Given the description of an element on the screen output the (x, y) to click on. 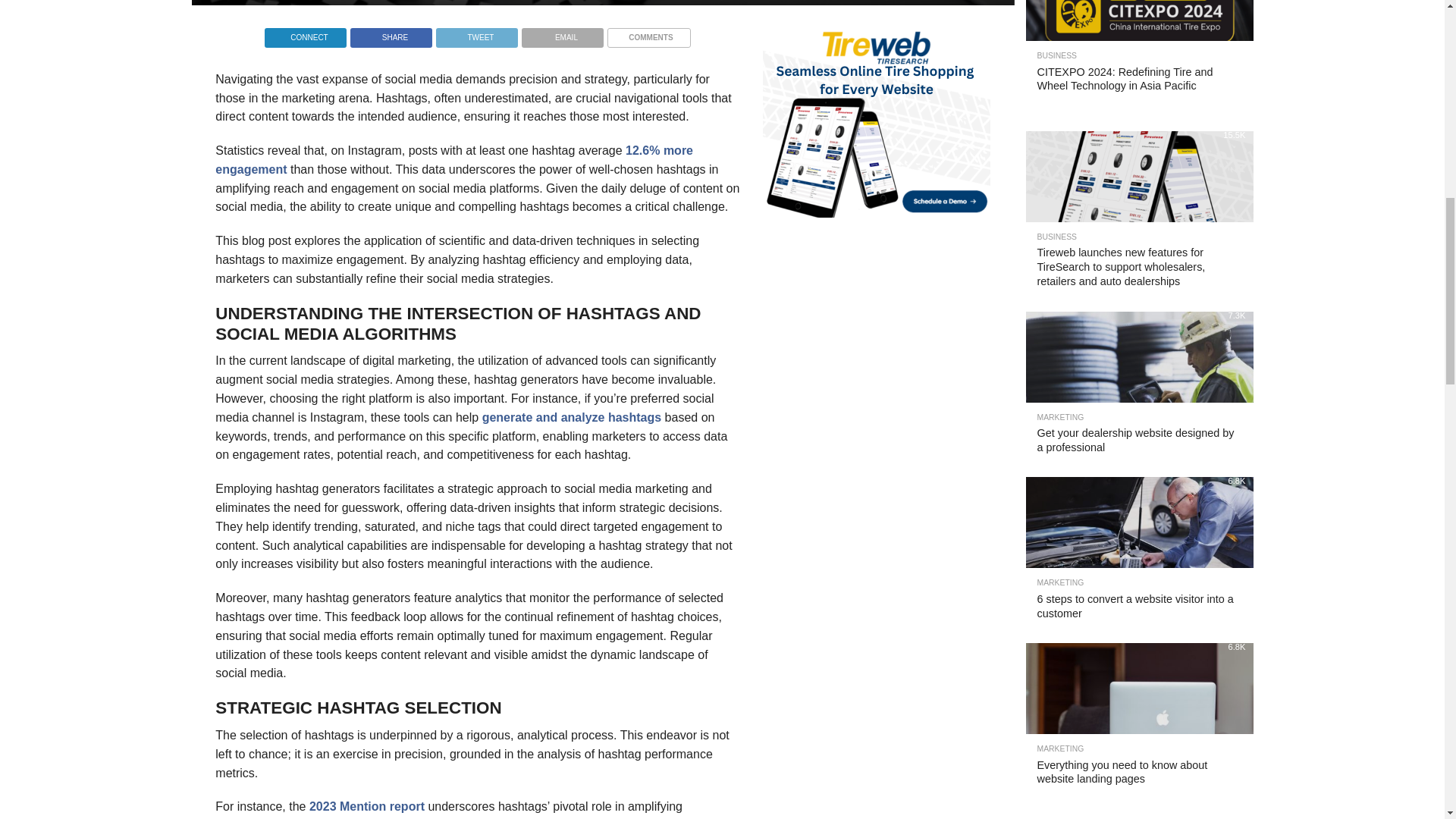
Tweet This Post (476, 33)
Share on Facebook (390, 33)
Share on LinkedIn (305, 33)
